Given the description of an element on the screen output the (x, y) to click on. 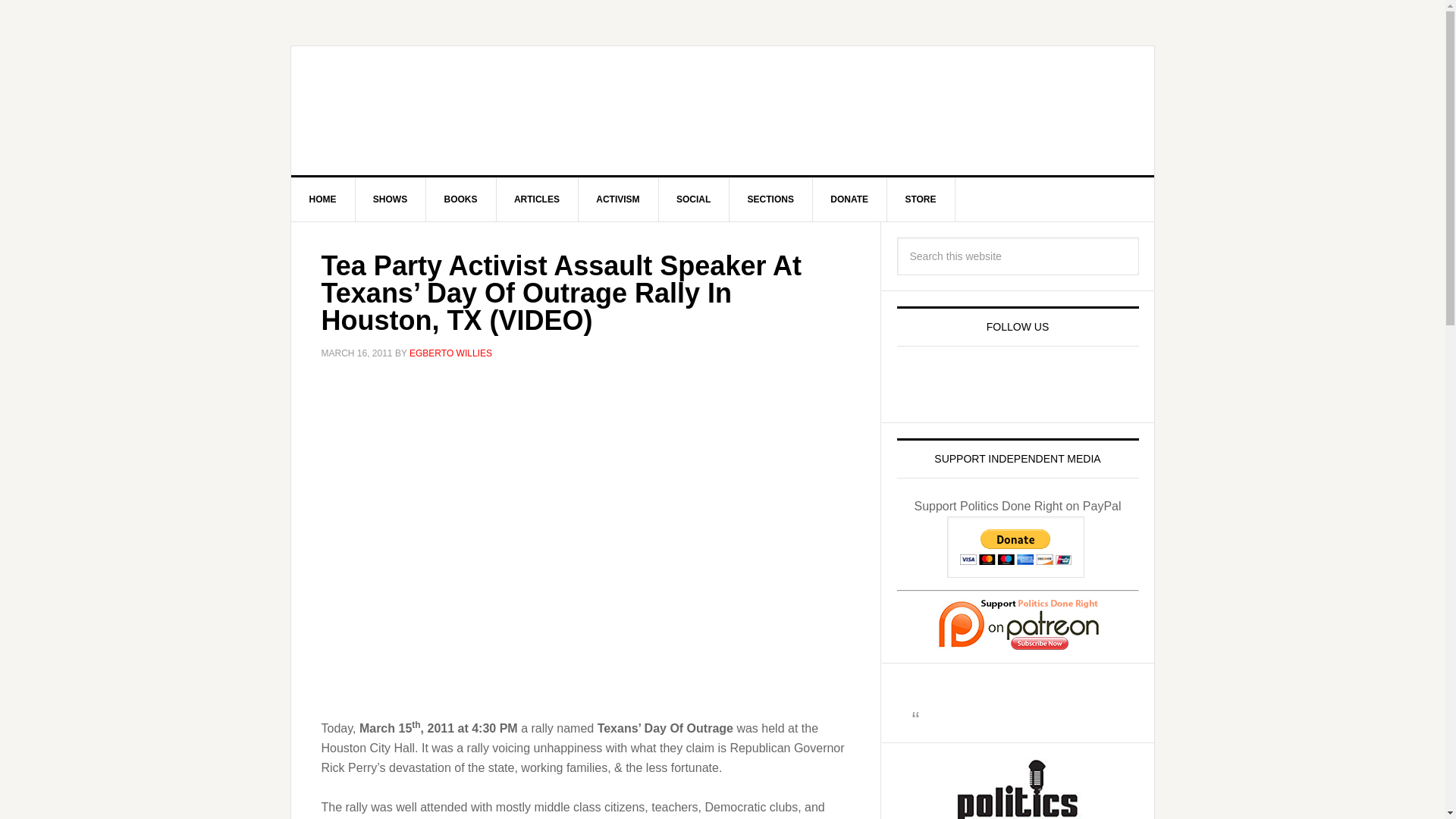
ARTICLES (537, 199)
EGBERTOWILLIES.COM (419, 110)
HOME (323, 199)
BOOKS (461, 199)
SHOWS (390, 199)
ACTIVISM (618, 199)
SOCIAL (693, 199)
